Given the description of an element on the screen output the (x, y) to click on. 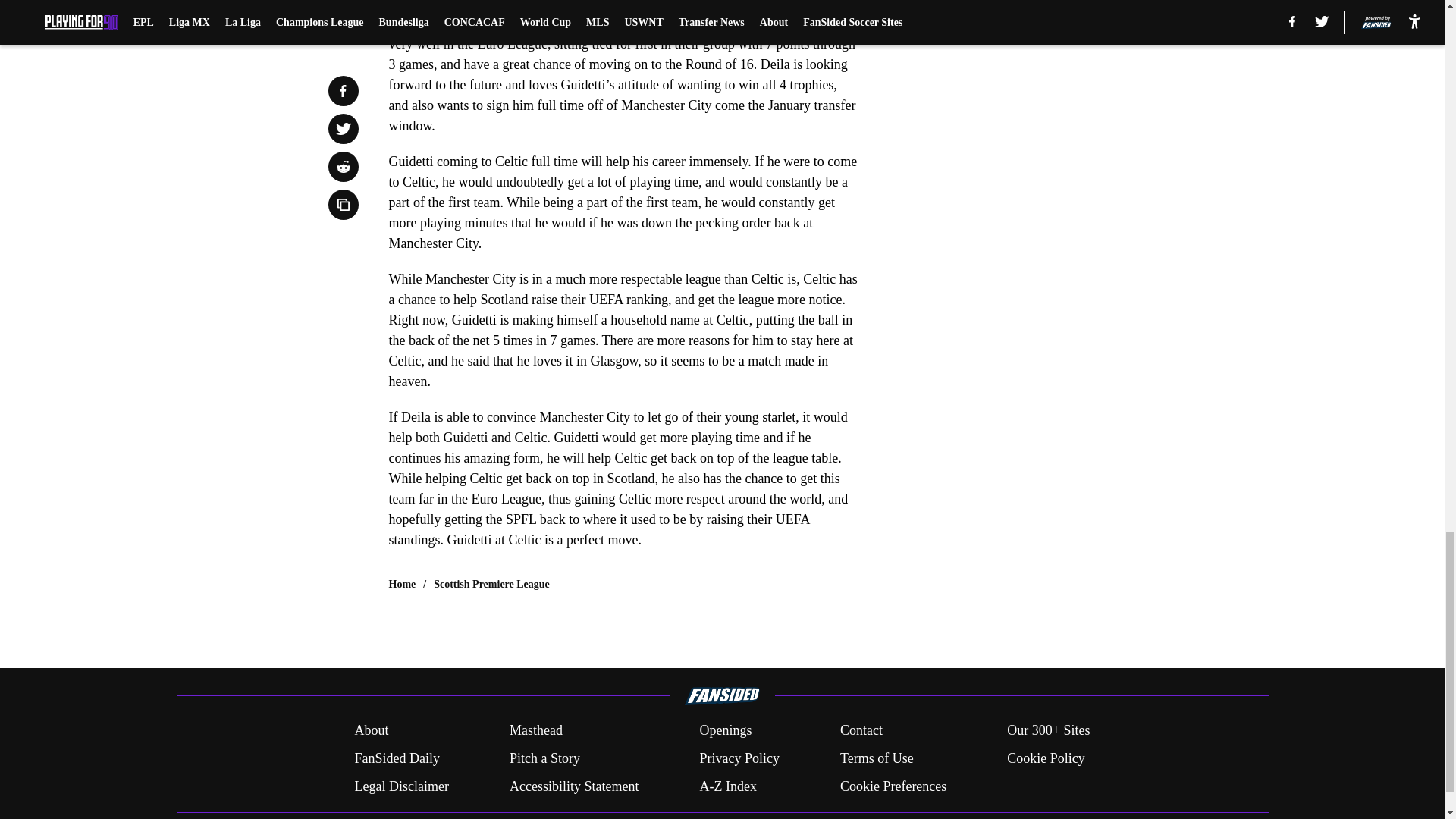
FanSided Daily (396, 758)
Terms of Use (877, 758)
Masthead (535, 730)
Privacy Policy (738, 758)
About (370, 730)
Home (401, 584)
Openings (724, 730)
Pitch a Story (544, 758)
Scottish Premiere League (491, 584)
Contact (861, 730)
